Given the description of an element on the screen output the (x, y) to click on. 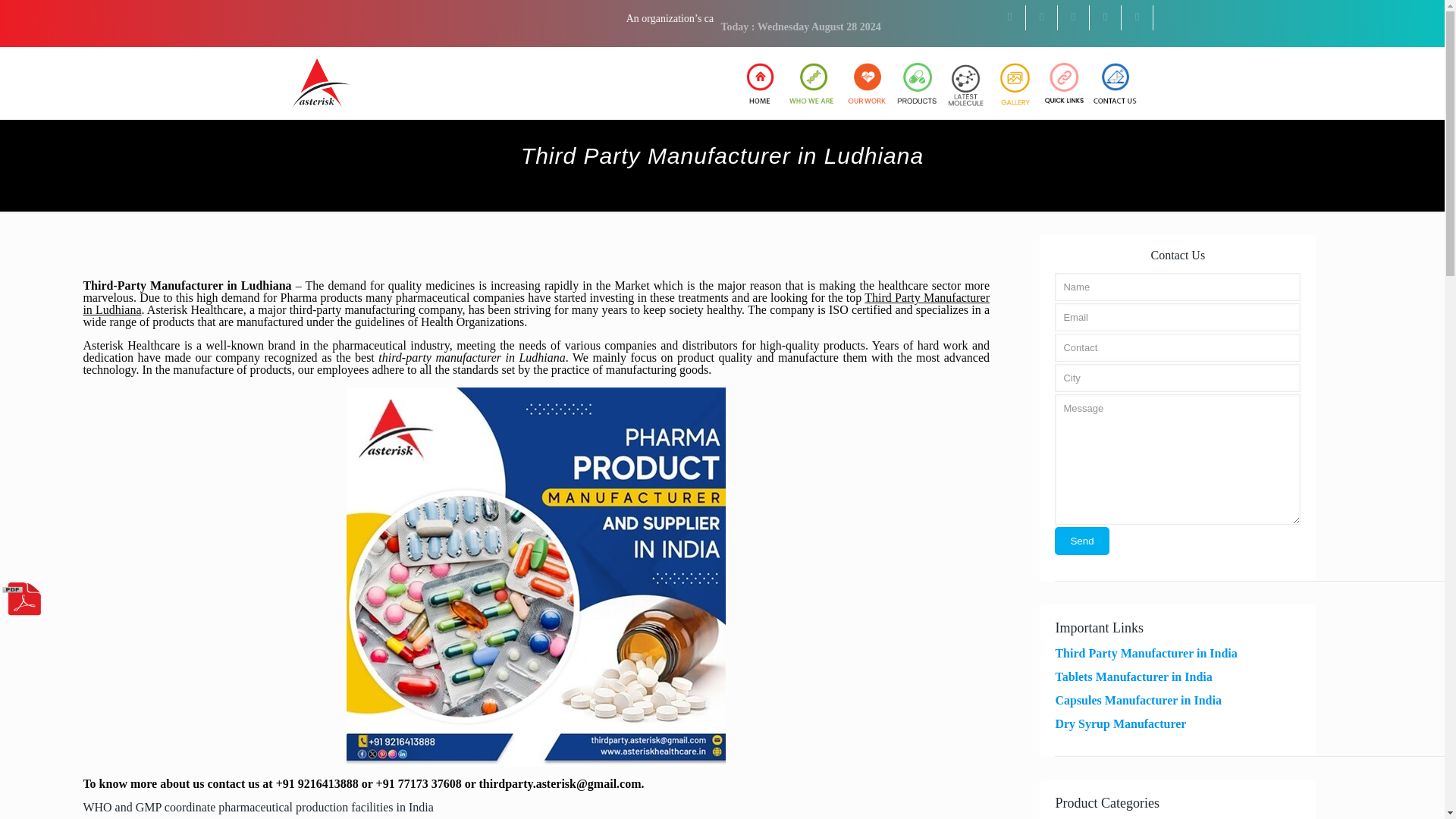
Send (1081, 541)
Twitter (1041, 16)
LinkedIn (1073, 16)
Pinterest (1105, 16)
Instagram (1136, 16)
Facebook (1009, 16)
